Given the description of an element on the screen output the (x, y) to click on. 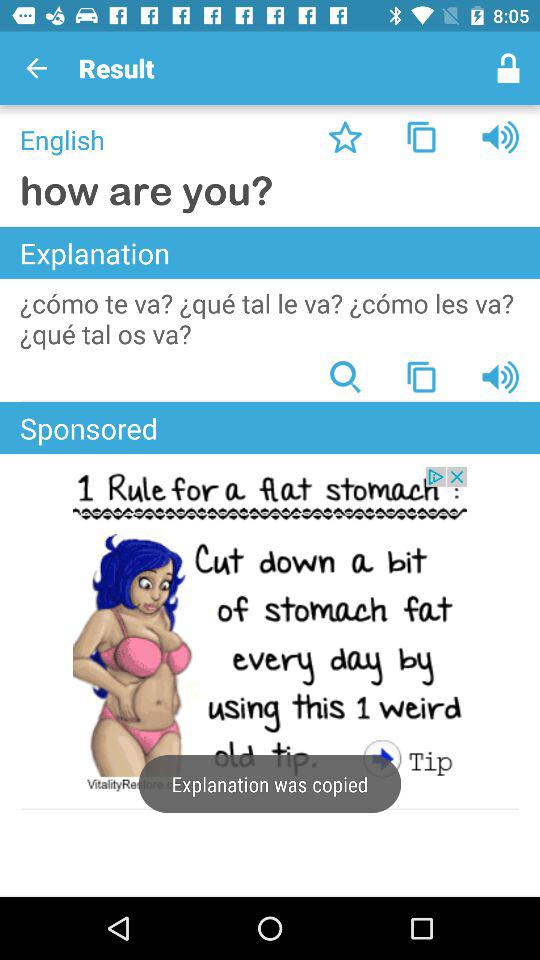
open icon above english item (36, 68)
